Given the description of an element on the screen output the (x, y) to click on. 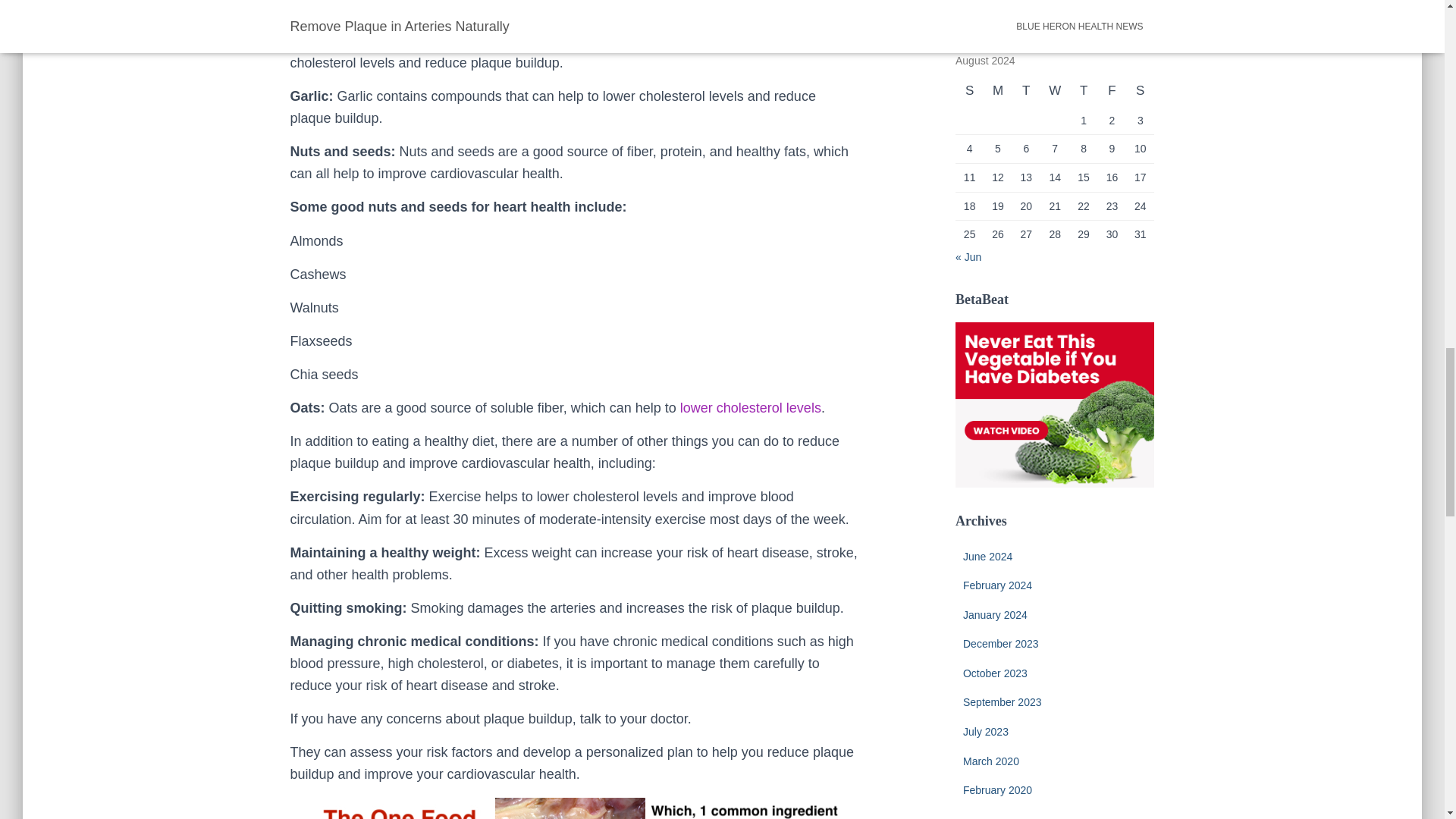
January 2024 (994, 614)
July 2023 (985, 731)
lower cholesterol levels (750, 407)
February 2020 (997, 789)
December 2023 (1000, 644)
March 2020 (990, 761)
February 2024 (997, 585)
October 2023 (994, 673)
September 2023 (1002, 702)
